Given the description of an element on the screen output the (x, y) to click on. 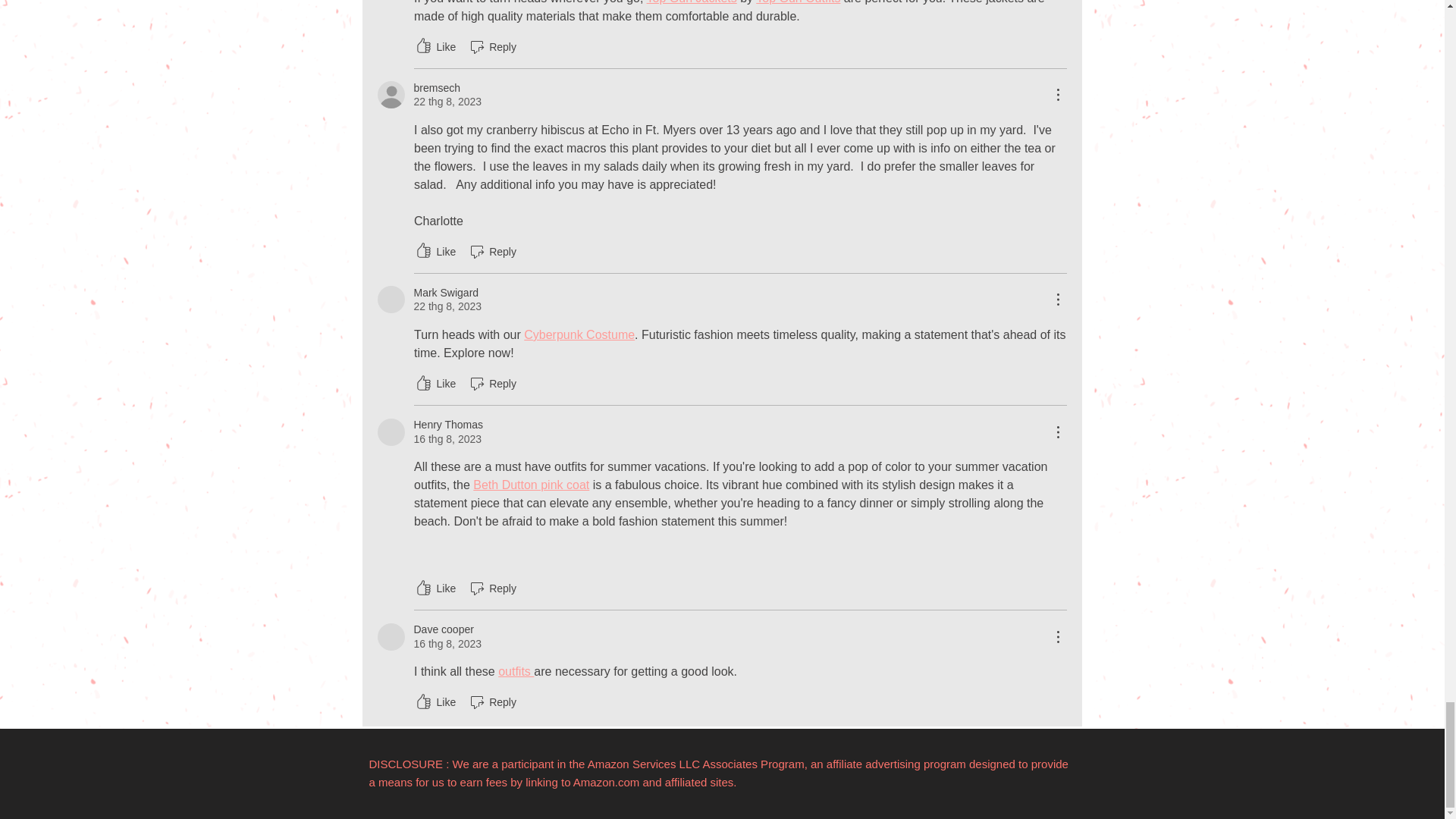
Mark Swigard (390, 298)
Henry Thomas (390, 431)
Dave cooper (390, 636)
